Given the description of an element on the screen output the (x, y) to click on. 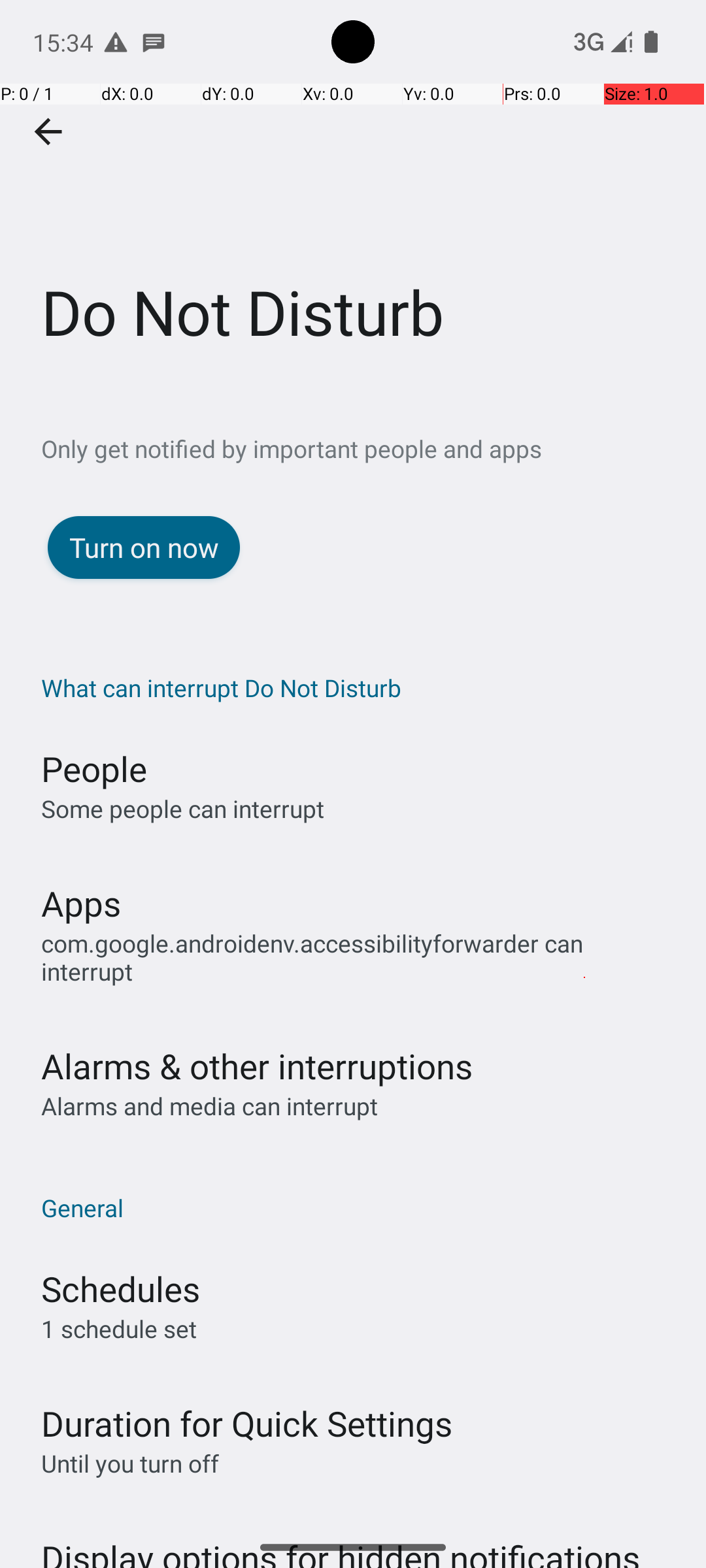
Do Not Disturb Element type: android.widget.FrameLayout (353, 195)
Only get notified by important people and apps Element type: android.widget.TextView (373, 448)
Turn on now Element type: android.widget.Button (143, 547)
What can interrupt Do Not Disturb Element type: android.widget.TextView (359, 687)
People Element type: android.widget.TextView (94, 768)
Some people can interrupt Element type: android.widget.TextView (182, 808)
com.google.androidenv.accessibilityforwarder can interrupt Element type: android.widget.TextView (359, 956)
Alarms & other interruptions Element type: android.widget.TextView (256, 1065)
Alarms and media can interrupt Element type: android.widget.TextView (209, 1105)
Schedules Element type: android.widget.TextView (120, 1288)
1 schedule set Element type: android.widget.TextView (118, 1328)
Duration for Quick Settings Element type: android.widget.TextView (246, 1423)
Until you turn off Element type: android.widget.TextView (129, 1462)
